Given the description of an element on the screen output the (x, y) to click on. 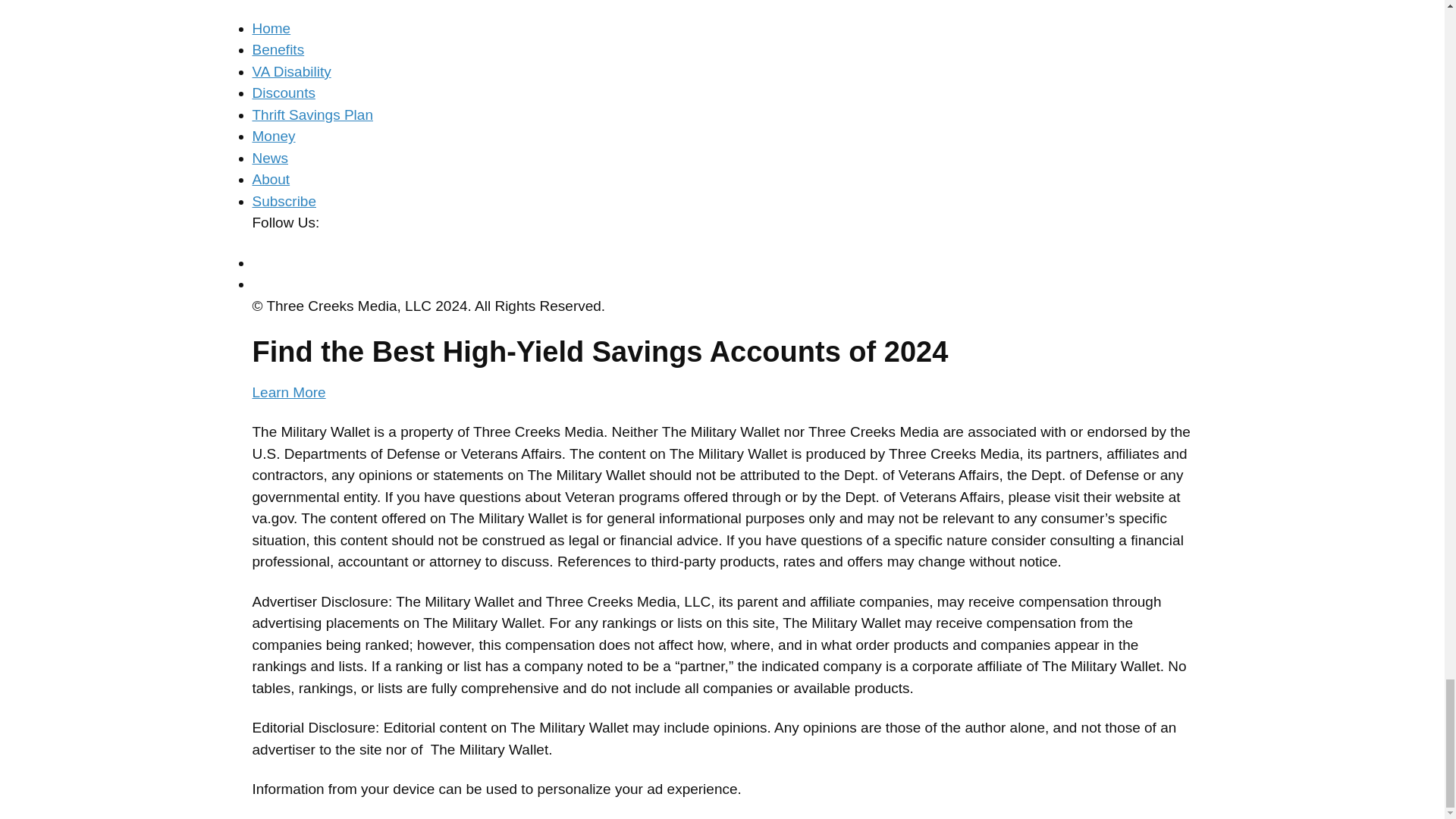
Learn More (721, 368)
